Given the description of an element on the screen output the (x, y) to click on. 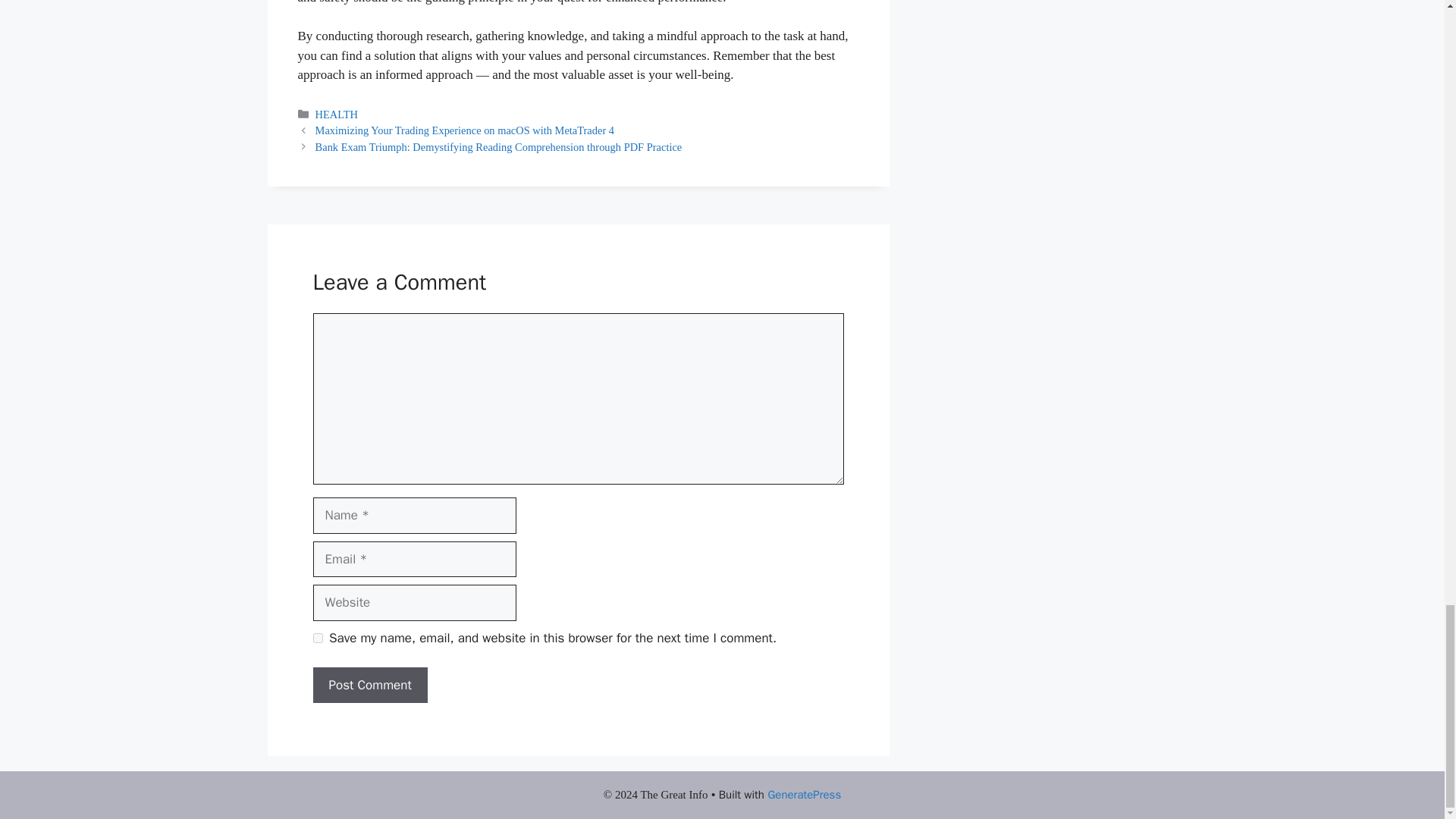
Post Comment (369, 685)
Post Comment (369, 685)
yes (317, 637)
HEALTH (336, 114)
